Given the description of an element on the screen output the (x, y) to click on. 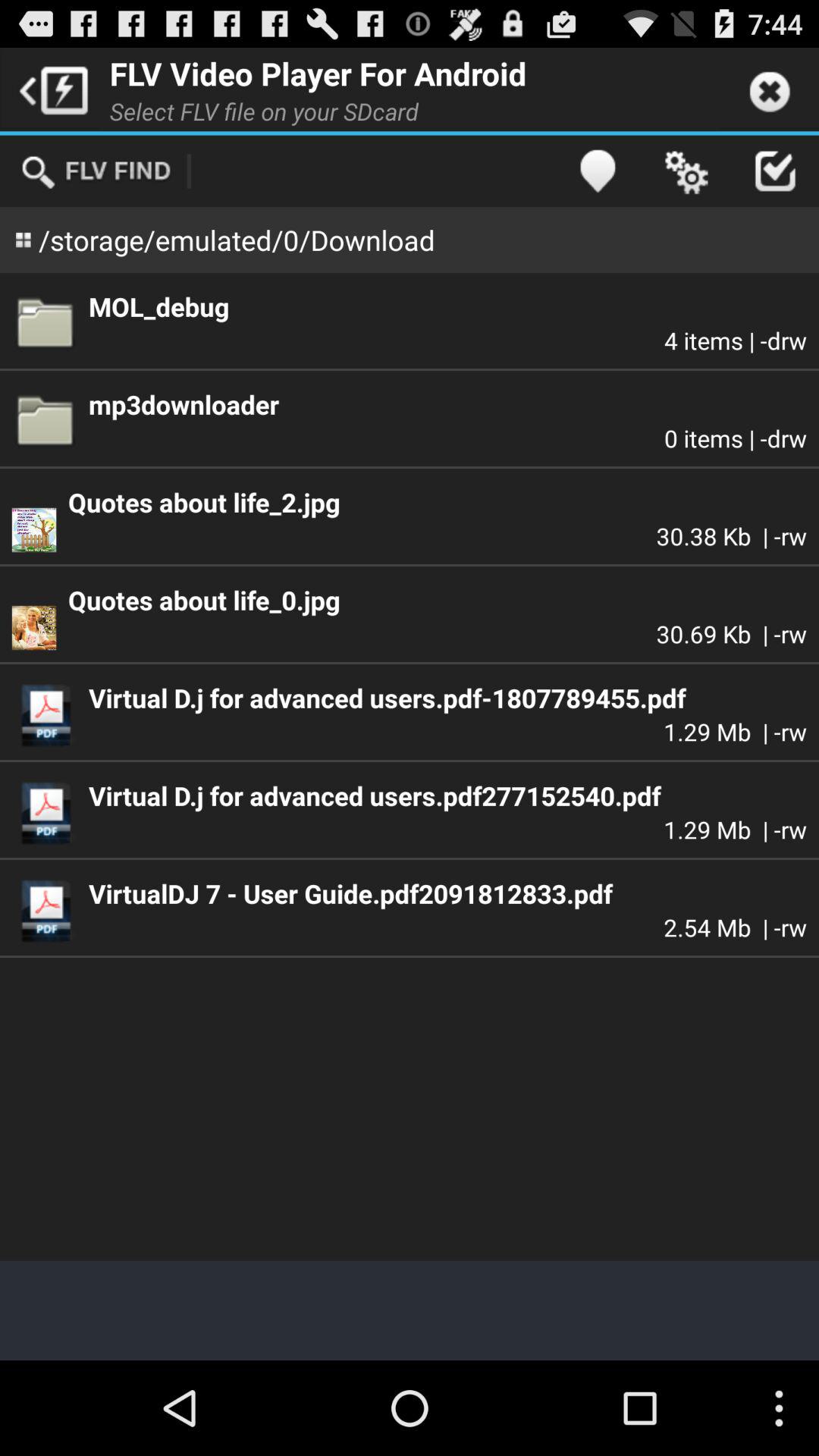
select mp3downloader item (447, 404)
